Given the description of an element on the screen output the (x, y) to click on. 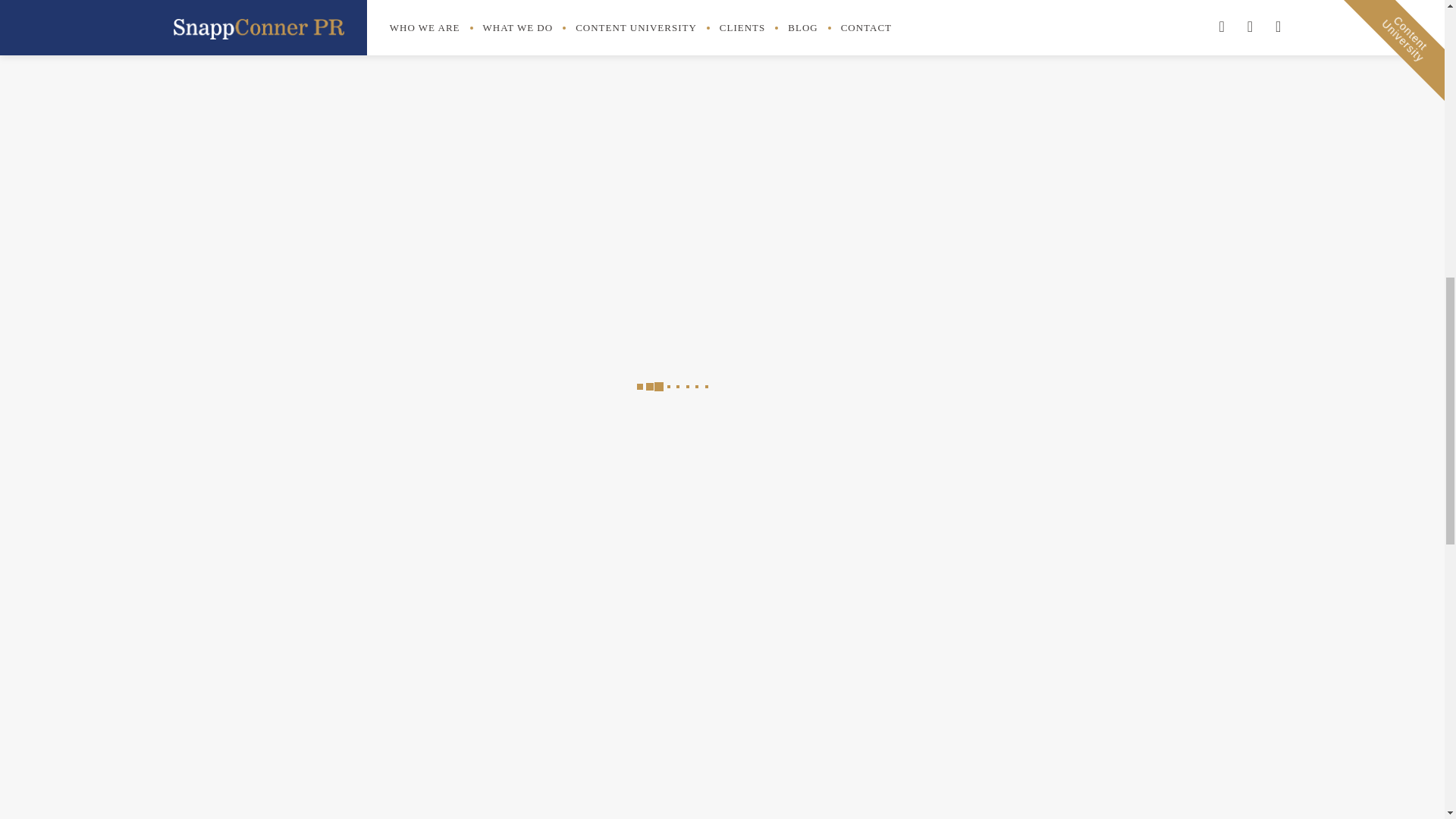
Journalism Industry (963, 45)
Inspirational (945, 18)
Share this post on LinkedIn (817, 112)
Share this post on Twitter (783, 112)
Share this post on Facebook (748, 112)
